Given the description of an element on the screen output the (x, y) to click on. 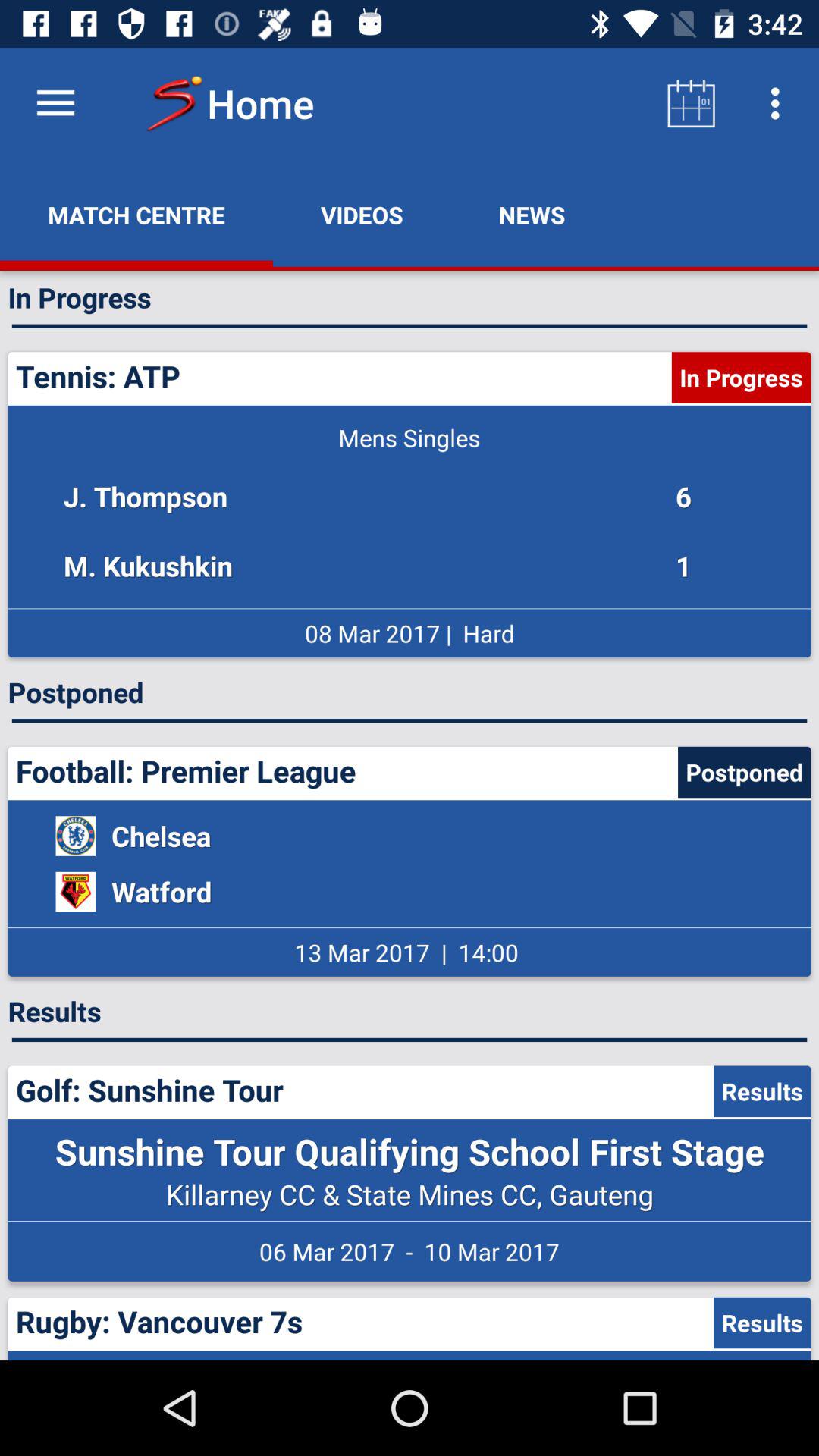
open menu (55, 103)
